Given the description of an element on the screen output the (x, y) to click on. 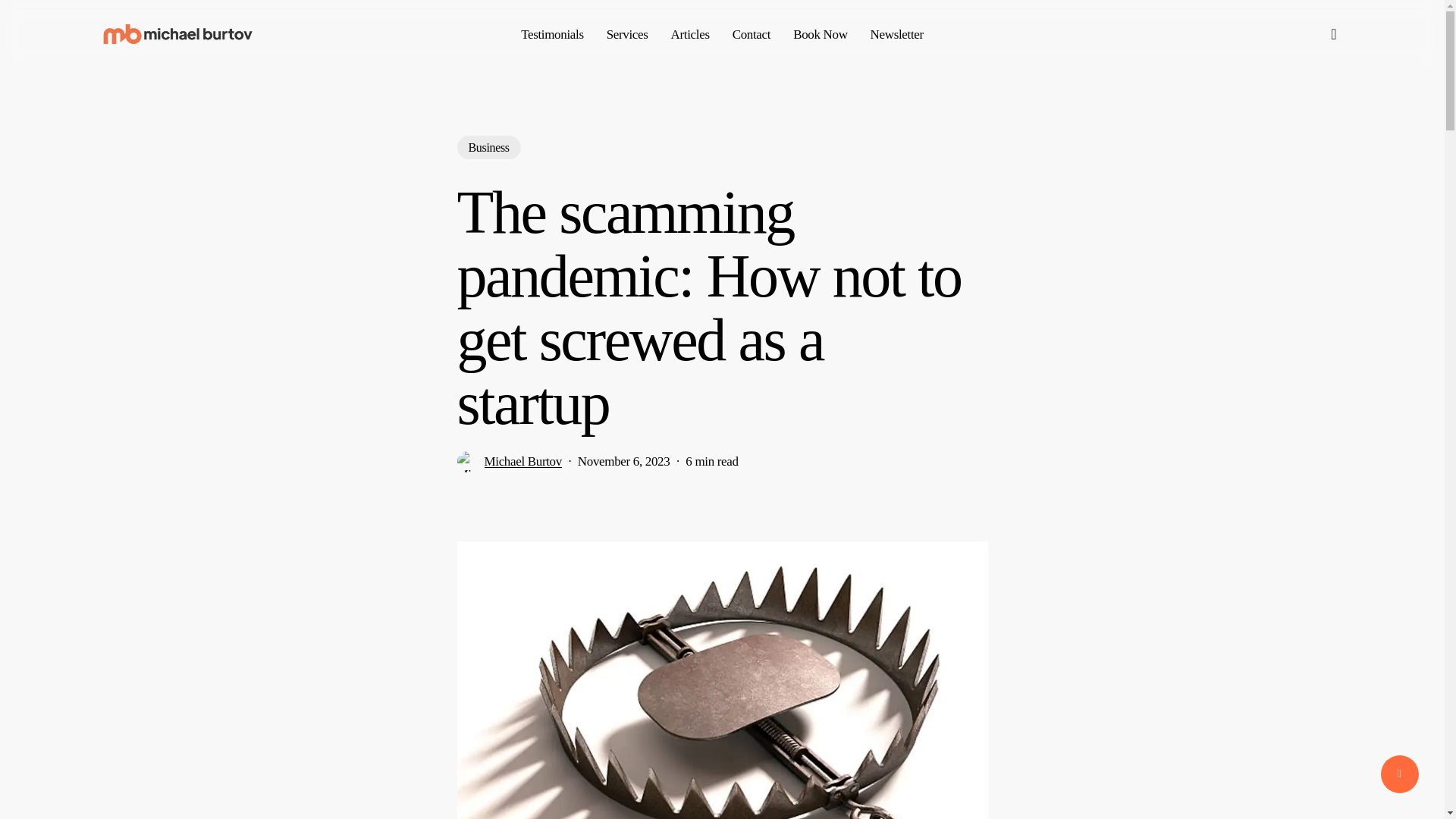
Contact (751, 33)
Newsletter (896, 33)
Articles (690, 33)
Business (488, 146)
search (1333, 33)
Michael Burtov (521, 461)
Book Now (820, 33)
Testimonials (552, 33)
Posts by Michael Burtov (521, 461)
Services (627, 33)
